Given the description of an element on the screen output the (x, y) to click on. 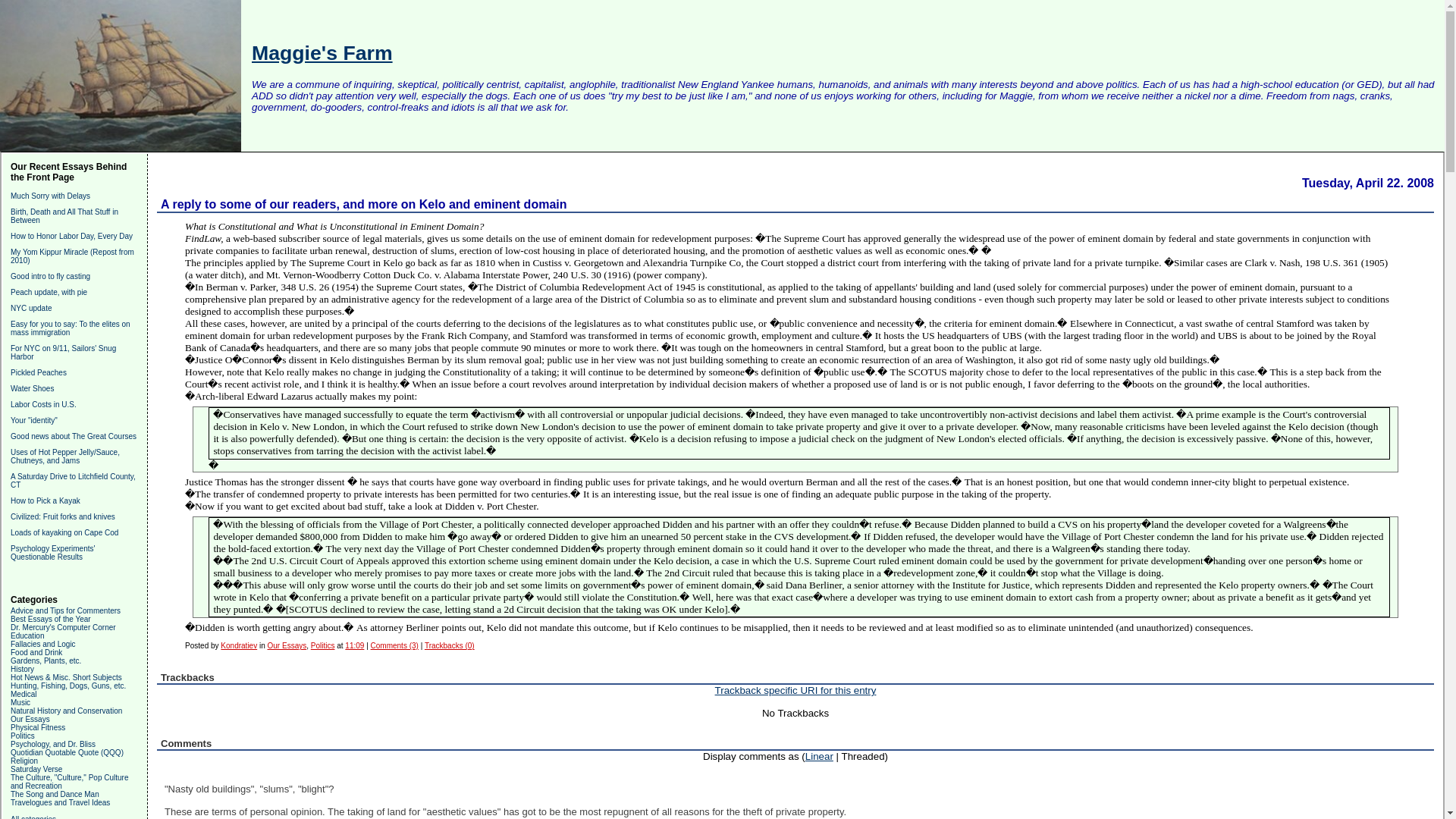
Medical (23, 694)
NYC update (30, 307)
How to Pick a Kayak (45, 500)
Psychology, and Dr. Bliss (53, 744)
Food and Drink (36, 652)
Easy for you to say: To the elites on mass immigration (70, 328)
Civilized: Fruit forks and knives (62, 516)
Birth, Death and All That Stuff in Between (63, 216)
Gardens, Plants, etc. (45, 660)
Education (26, 635)
